Given the description of an element on the screen output the (x, y) to click on. 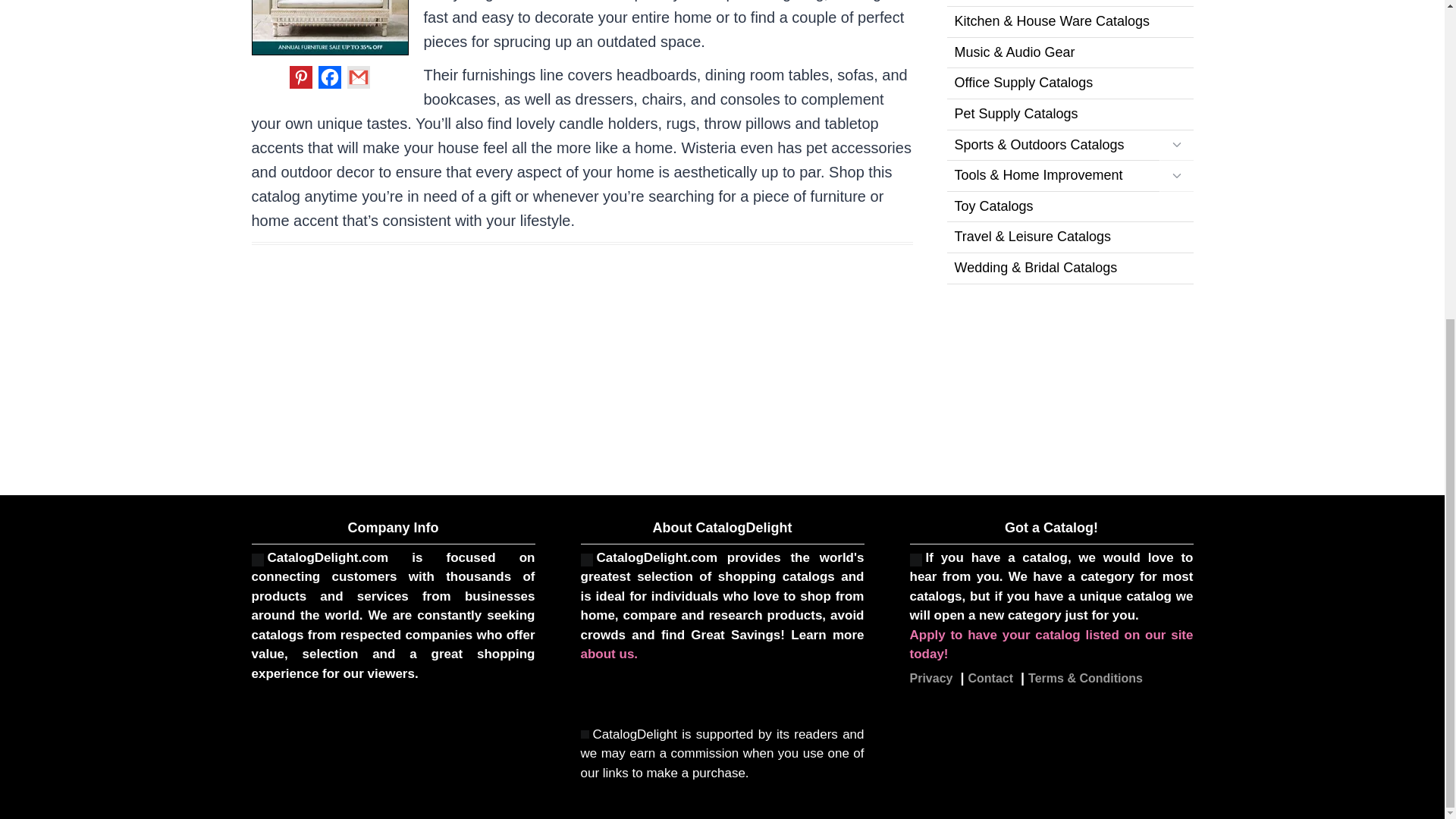
Google Gmail (358, 77)
Pet Supply Catalogs (1069, 114)
Jewelry Catalogs (1069, 3)
Pinterest (301, 77)
Office Supply Catalogs (1069, 83)
Facebook (329, 77)
